Given the description of an element on the screen output the (x, y) to click on. 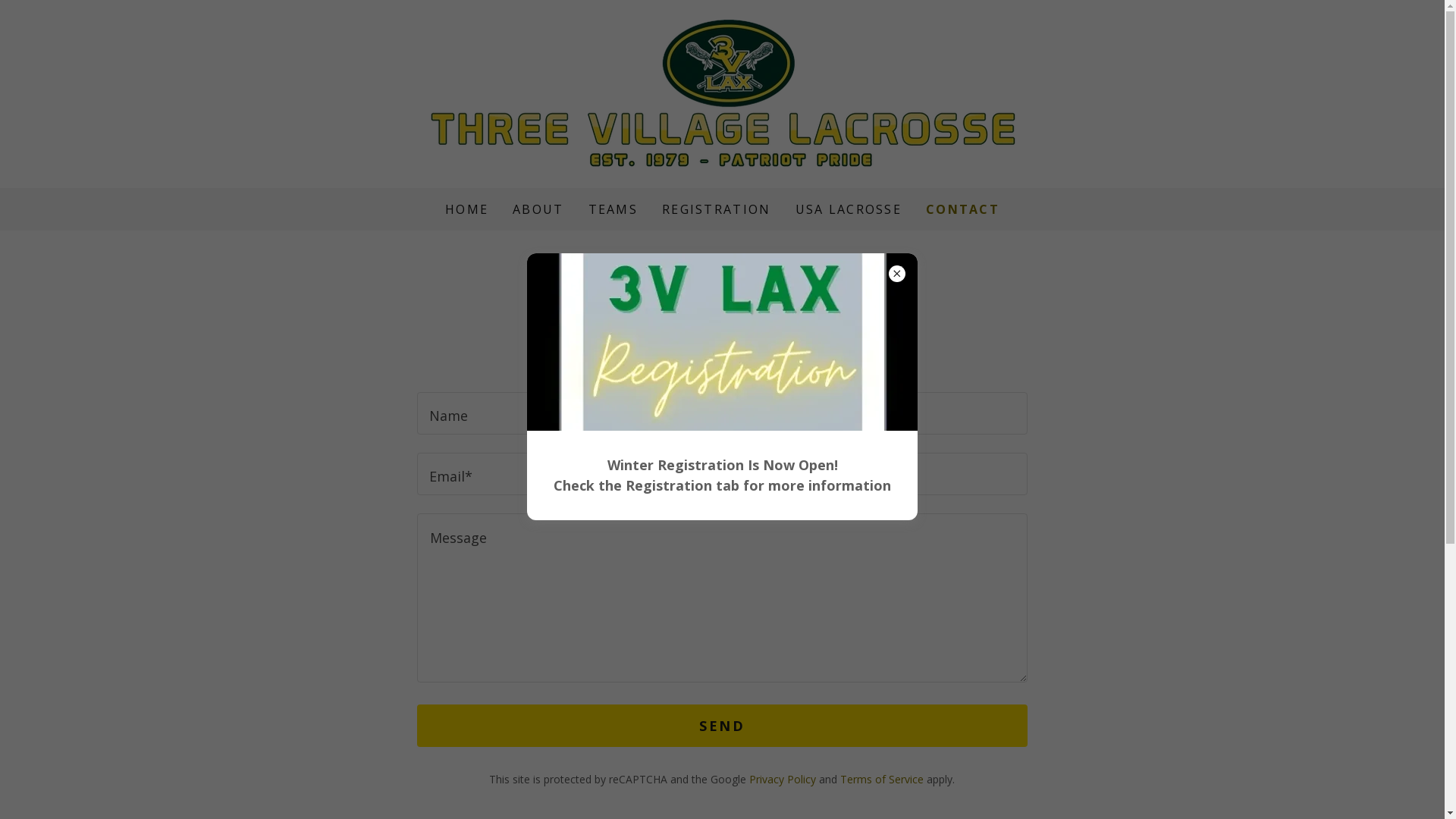
Three Village Lacrosse Element type: hover (721, 92)
REGISTRATION Element type: text (716, 208)
ABOUT Element type: text (537, 208)
USA LACROSSE Element type: text (848, 208)
Privacy Policy Element type: text (782, 778)
SEND Element type: text (722, 725)
Terms of Service Element type: text (881, 778)
TEAMS Element type: text (612, 208)
CONTACT Element type: text (962, 209)
HOME Element type: text (466, 208)
